Given the description of an element on the screen output the (x, y) to click on. 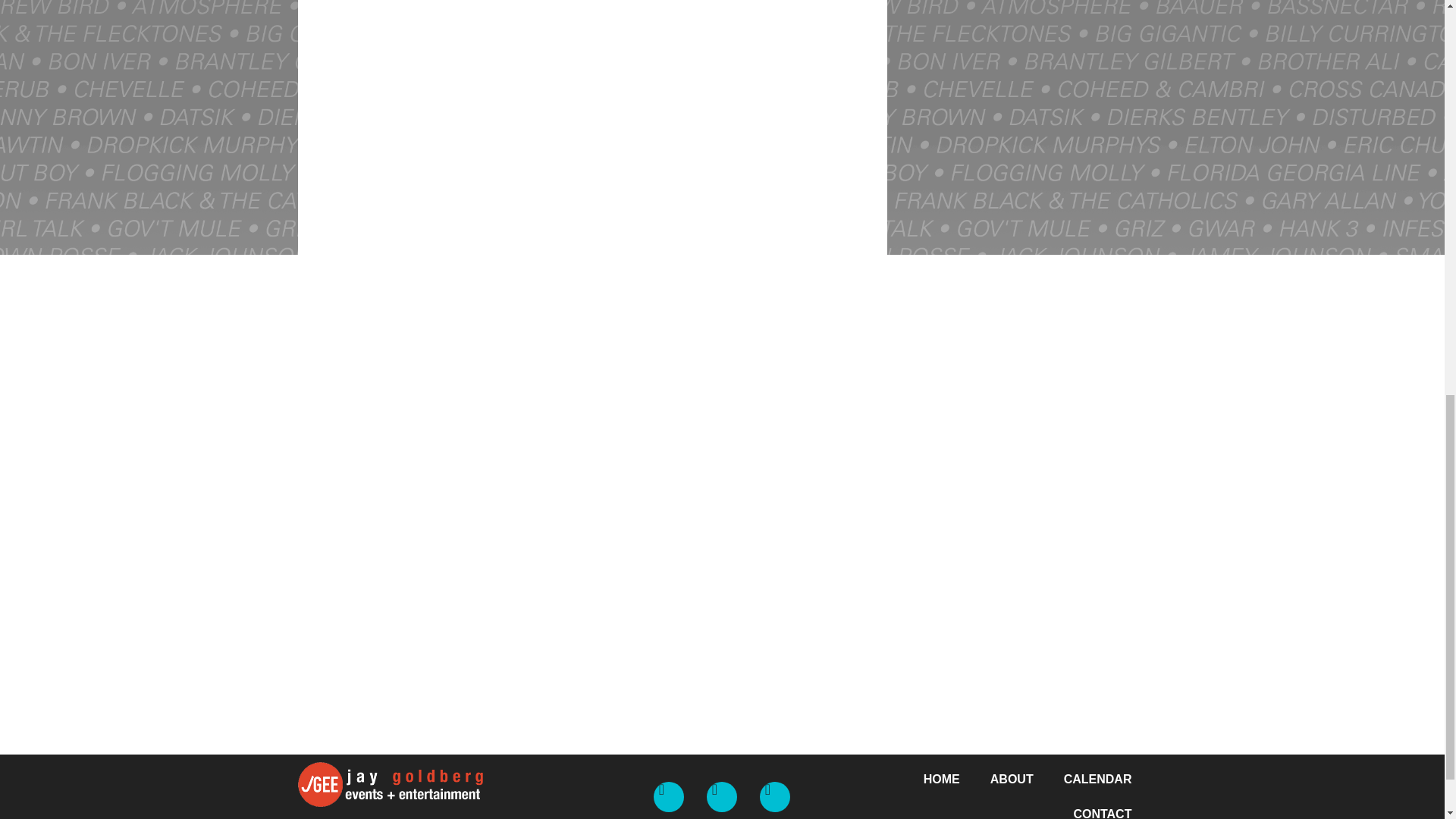
CONTACT (1102, 807)
CALENDAR (1097, 779)
HOME (941, 779)
ABOUT (1011, 779)
